Given the description of an element on the screen output the (x, y) to click on. 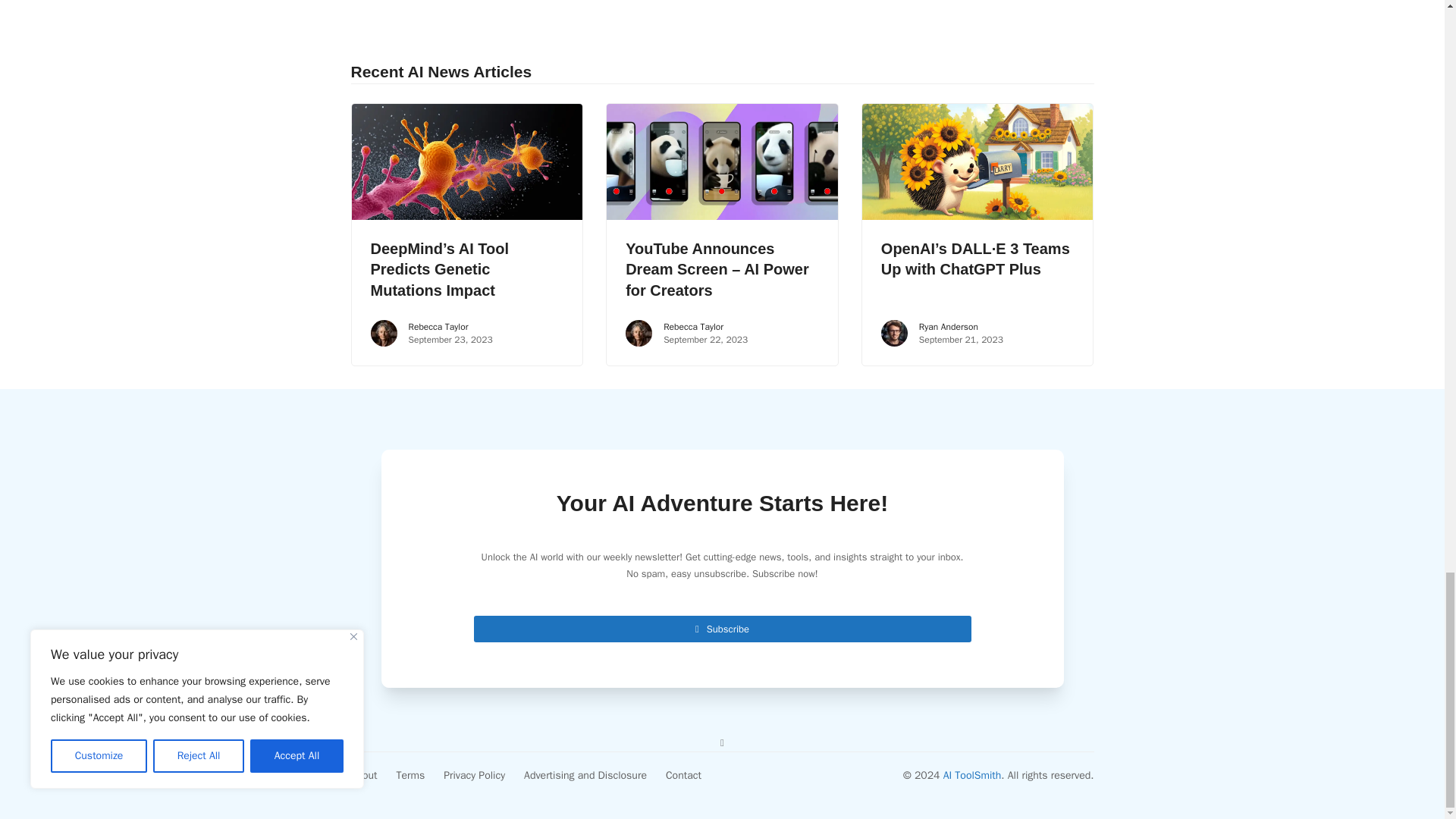
Twitter (721, 742)
